Given the description of an element on the screen output the (x, y) to click on. 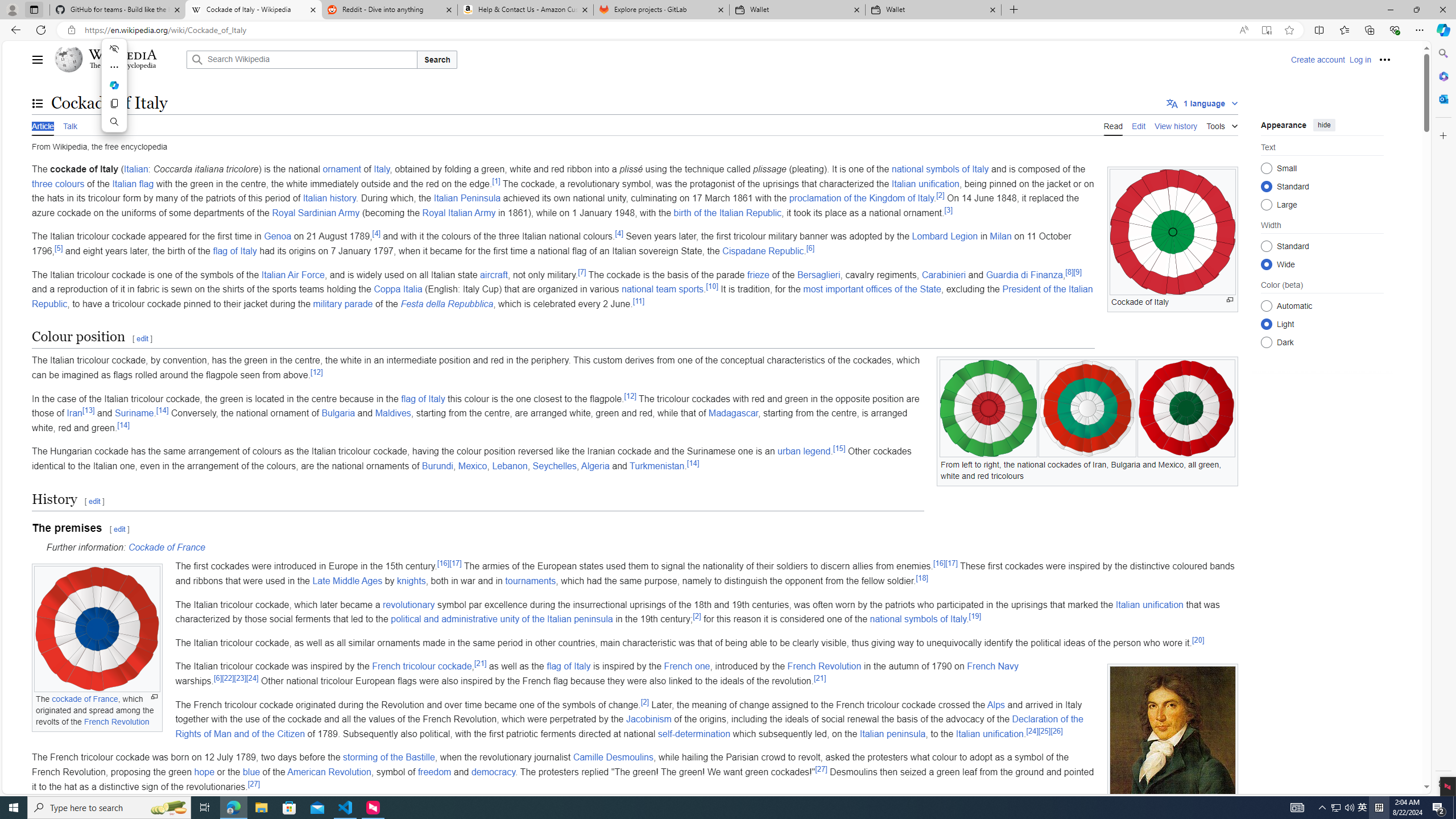
[12] (630, 395)
Turkmenistan (656, 466)
[4] (618, 233)
Italian peninsula (892, 733)
frieze (758, 274)
revolutionary (408, 604)
[2] (644, 700)
Festa della Repubblica (446, 303)
Coppa Italia (398, 289)
[17] (951, 563)
Cockade of France (166, 547)
